Given the description of an element on the screen output the (x, y) to click on. 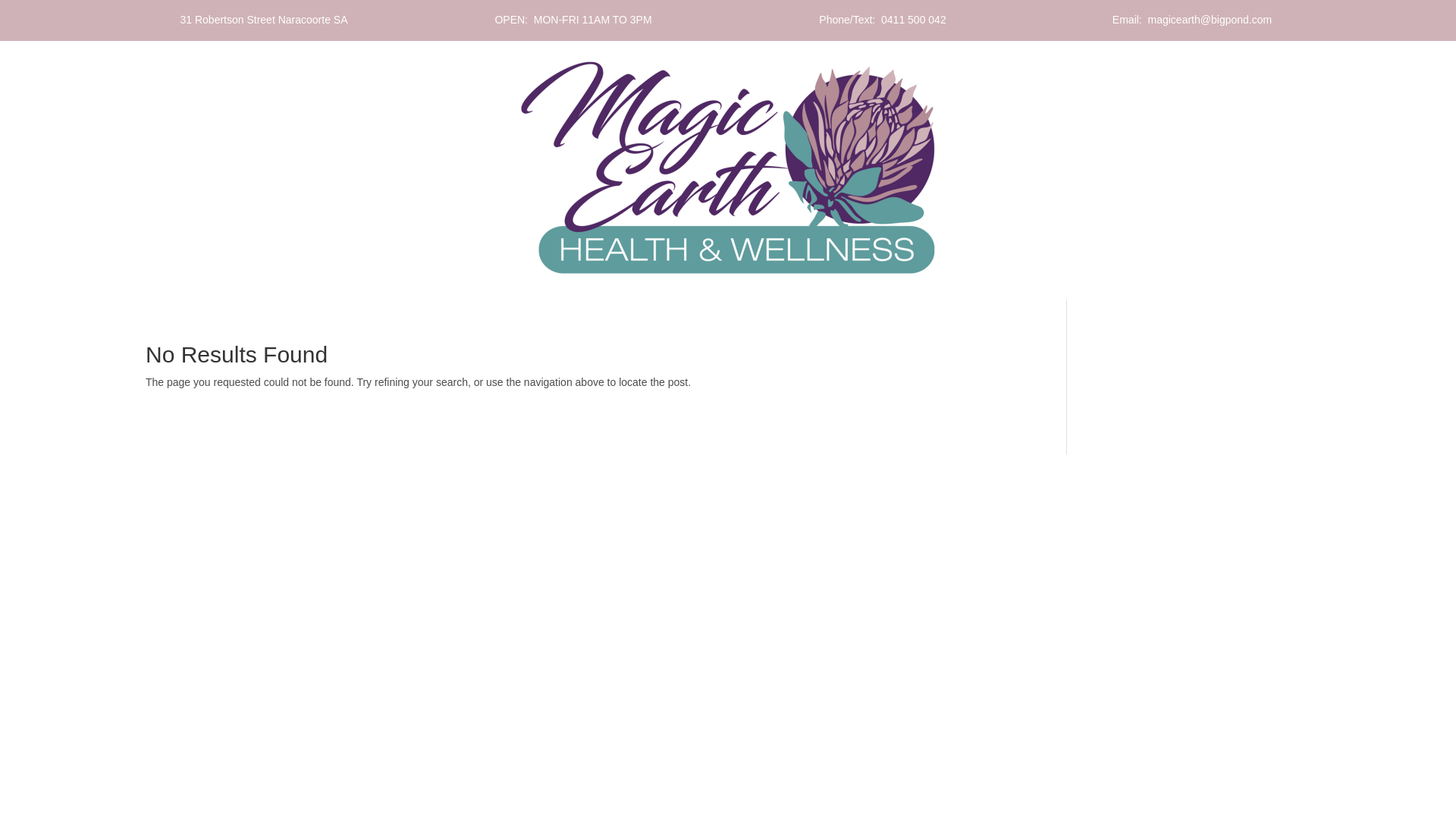
Magic Earth Health Wellness Element type: hover (727, 167)
